Given the description of an element on the screen output the (x, y) to click on. 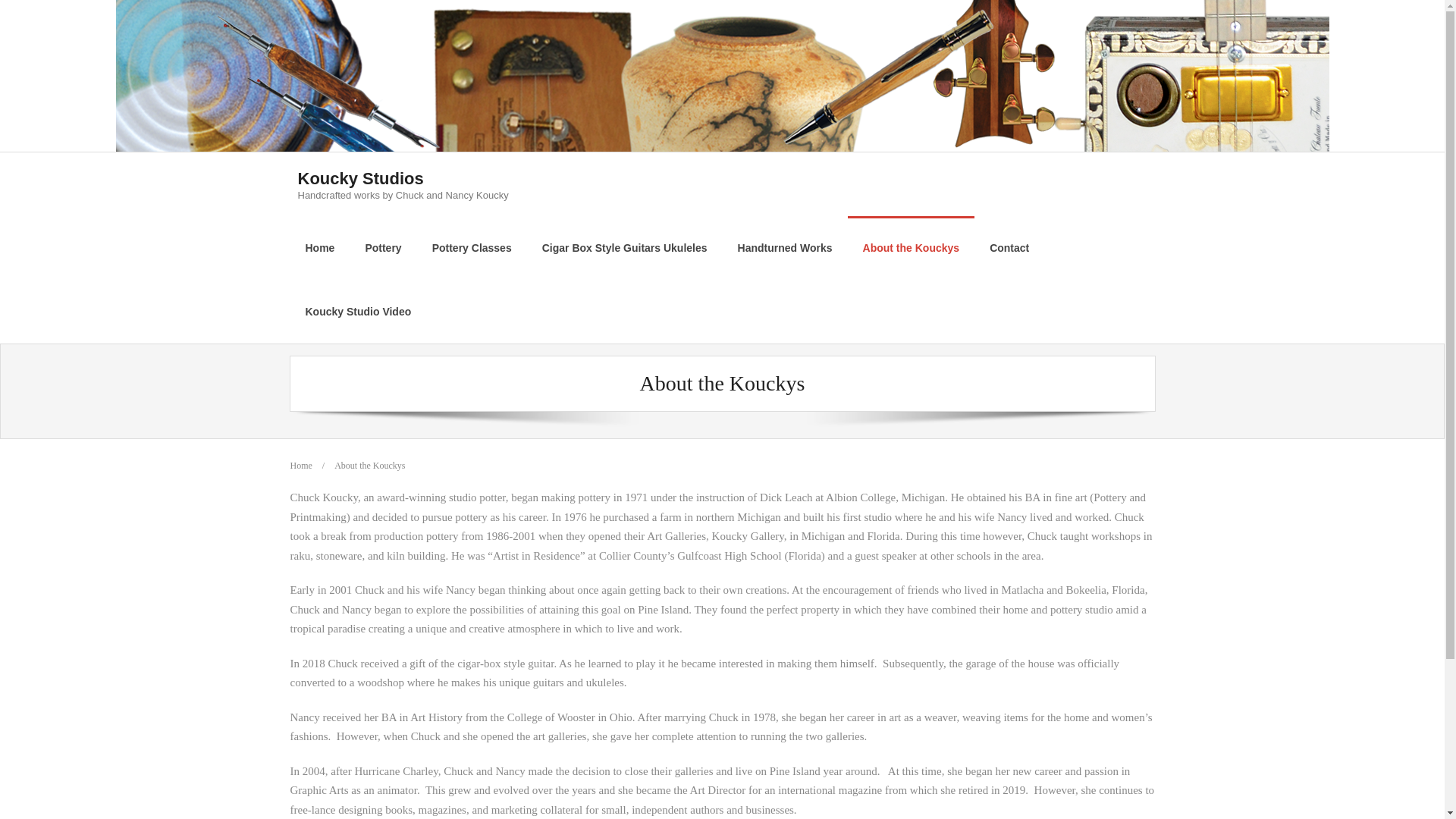
Cigar Box Style Guitars Ukuleles (624, 248)
Handturned Works (784, 248)
Koucky Studio Video (357, 311)
Pottery Classes (471, 248)
Contact (1008, 248)
About the Kouckys (911, 248)
Home (319, 248)
Home (300, 465)
Koucky Studios (402, 179)
Pottery (402, 184)
Handcrafted works by Chuck and Nancy Koucky (382, 248)
